Given the description of an element on the screen output the (x, y) to click on. 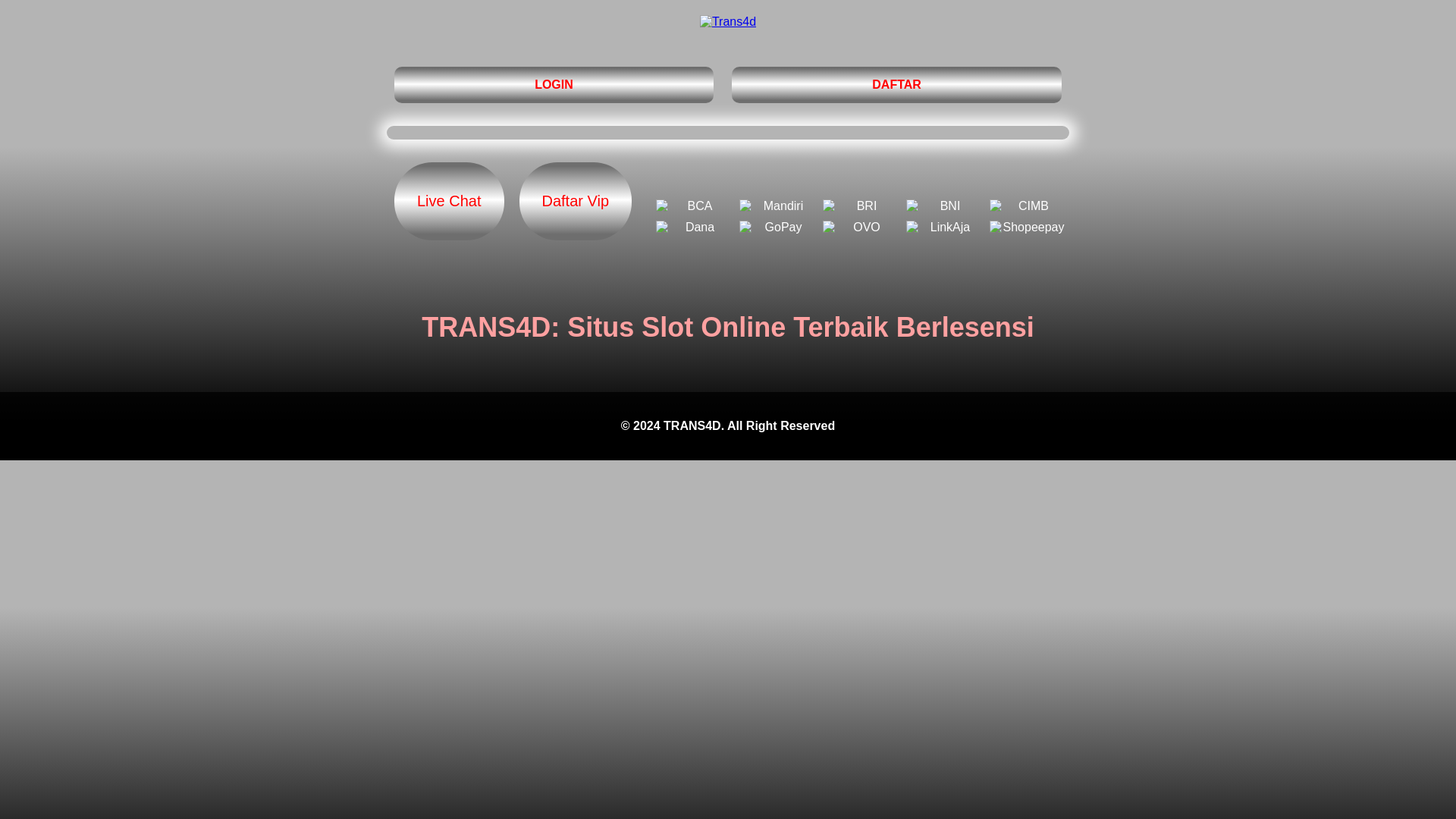
DAFTAR (896, 84)
LOGIN (553, 84)
Live Chat (448, 201)
Daftar Vip (574, 201)
